Given the description of an element on the screen output the (x, y) to click on. 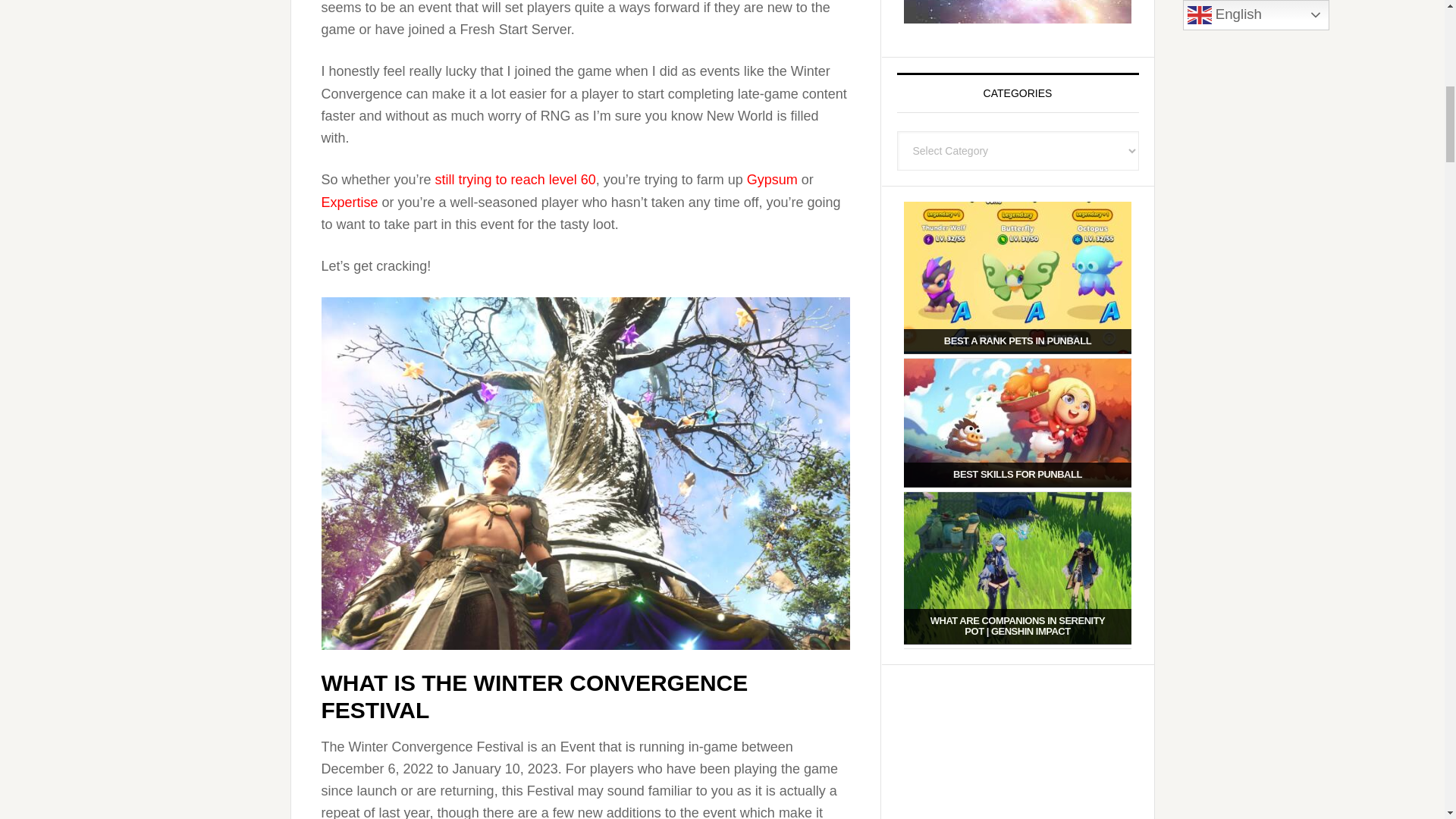
Expertise (349, 201)
still trying to reach level 60 (515, 179)
Gypsum (771, 179)
